Given the description of an element on the screen output the (x, y) to click on. 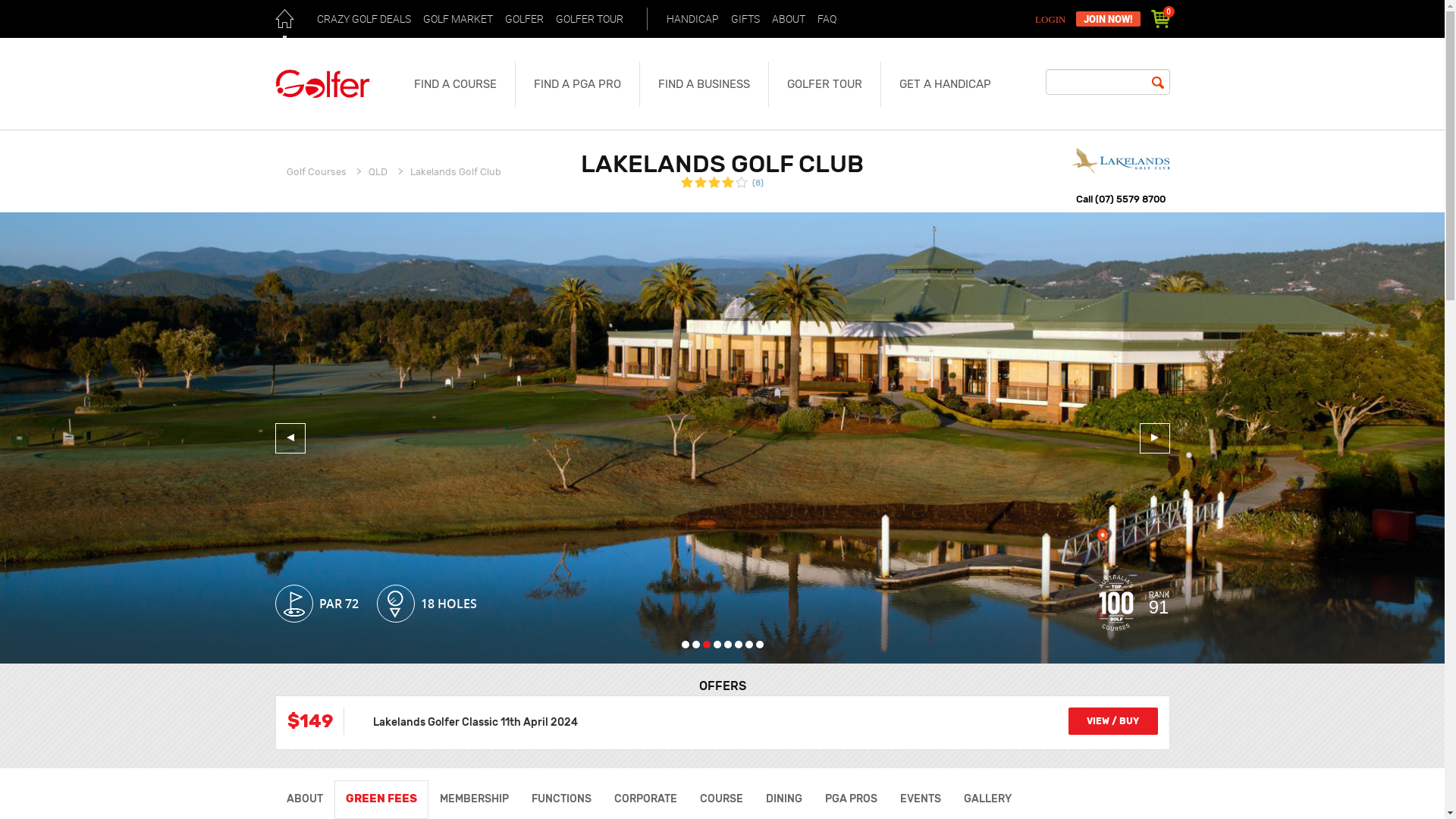
Golf Courses Element type: text (316, 171)
4 Element type: text (716, 644)
MEMBERSHIP Element type: text (473, 799)
CORPORATE Element type: text (644, 799)
COURSE Element type: text (721, 799)
FIND A PGA PRO Element type: text (576, 84)
GOLFER Element type: text (523, 18)
FIND A BUSINESS Element type: text (703, 84)
DINING Element type: text (782, 799)
FIND A COURSE Element type: text (454, 84)
GREEN FEES Element type: text (380, 799)
5 Element type: text (727, 644)
ABOUT Element type: text (787, 18)
Call (07) 5579 8700 Element type: text (1119, 199)
LOGIN Element type: text (1052, 19)
EVENTS Element type: text (920, 799)
VIEW / BUY Element type: text (1112, 720)
JOIN NOW! Element type: text (1107, 18)
8 Element type: text (758, 644)
GOLF MARKET Element type: text (456, 18)
Previous Element type: text (289, 438)
GOLFER TOUR Element type: text (823, 84)
PGA PROS Element type: text (850, 799)
FAQ Element type: text (825, 18)
6 Element type: text (737, 644)
ABOUT Element type: text (303, 799)
CRAZY GOLF DEALS Element type: text (363, 18)
0 Element type: text (1160, 18)
3 Element type: text (705, 644)
1 Element type: text (684, 644)
2 Element type: text (695, 644)
GIFTS Element type: text (744, 18)
FUNCTIONS Element type: text (561, 799)
QLD Element type: text (377, 171)
GALLERY Element type: text (987, 799)
7 Element type: text (748, 644)
Next Element type: text (1154, 438)
GET A HANDICAP Element type: text (944, 84)
GOLFER TOUR Element type: text (589, 18)
HANDICAP Element type: text (692, 18)
